Given the description of an element on the screen output the (x, y) to click on. 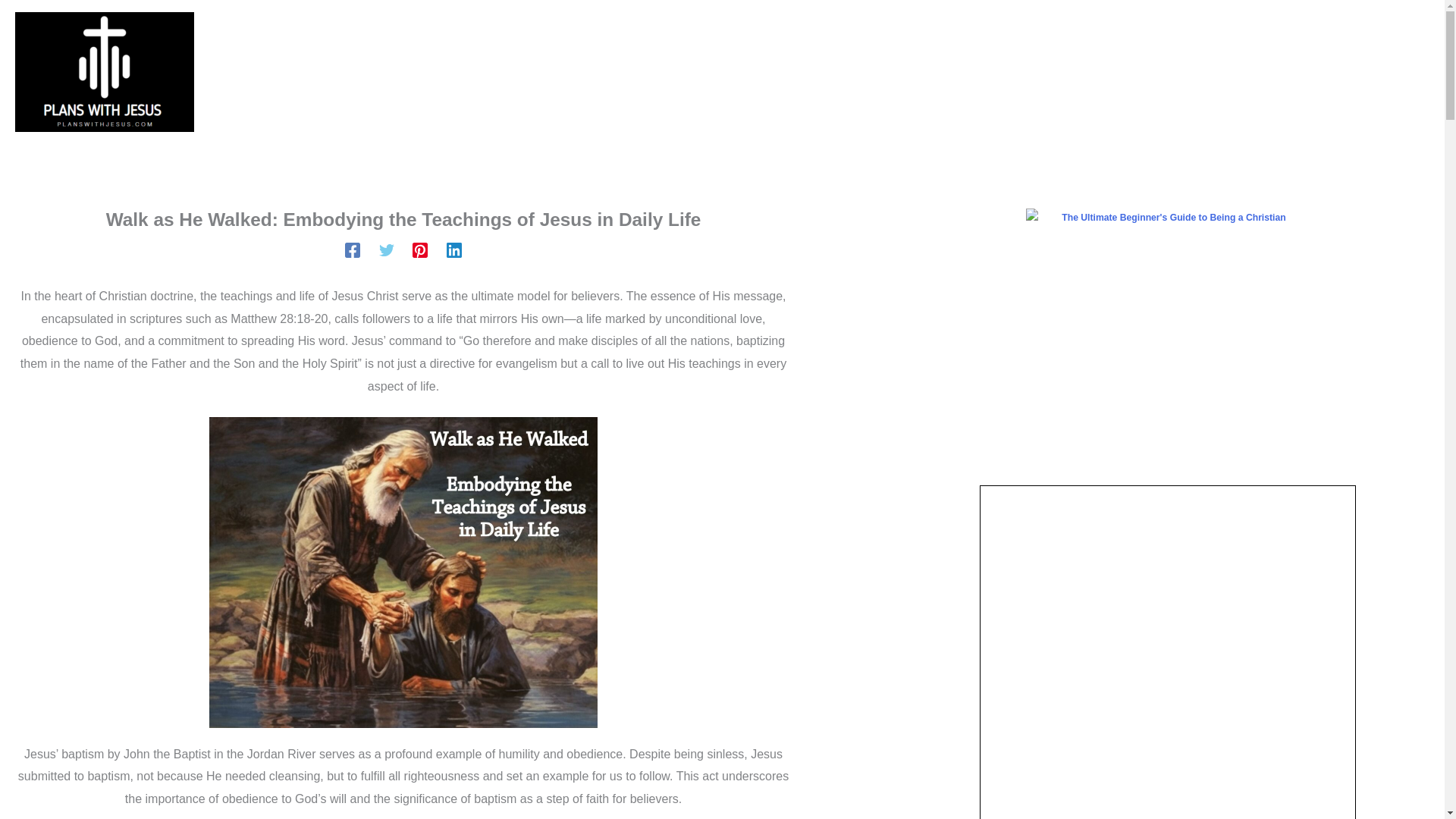
Latest (574, 71)
About Us (788, 71)
FAQ (876, 71)
Contact Us (675, 71)
